Given the description of an element on the screen output the (x, y) to click on. 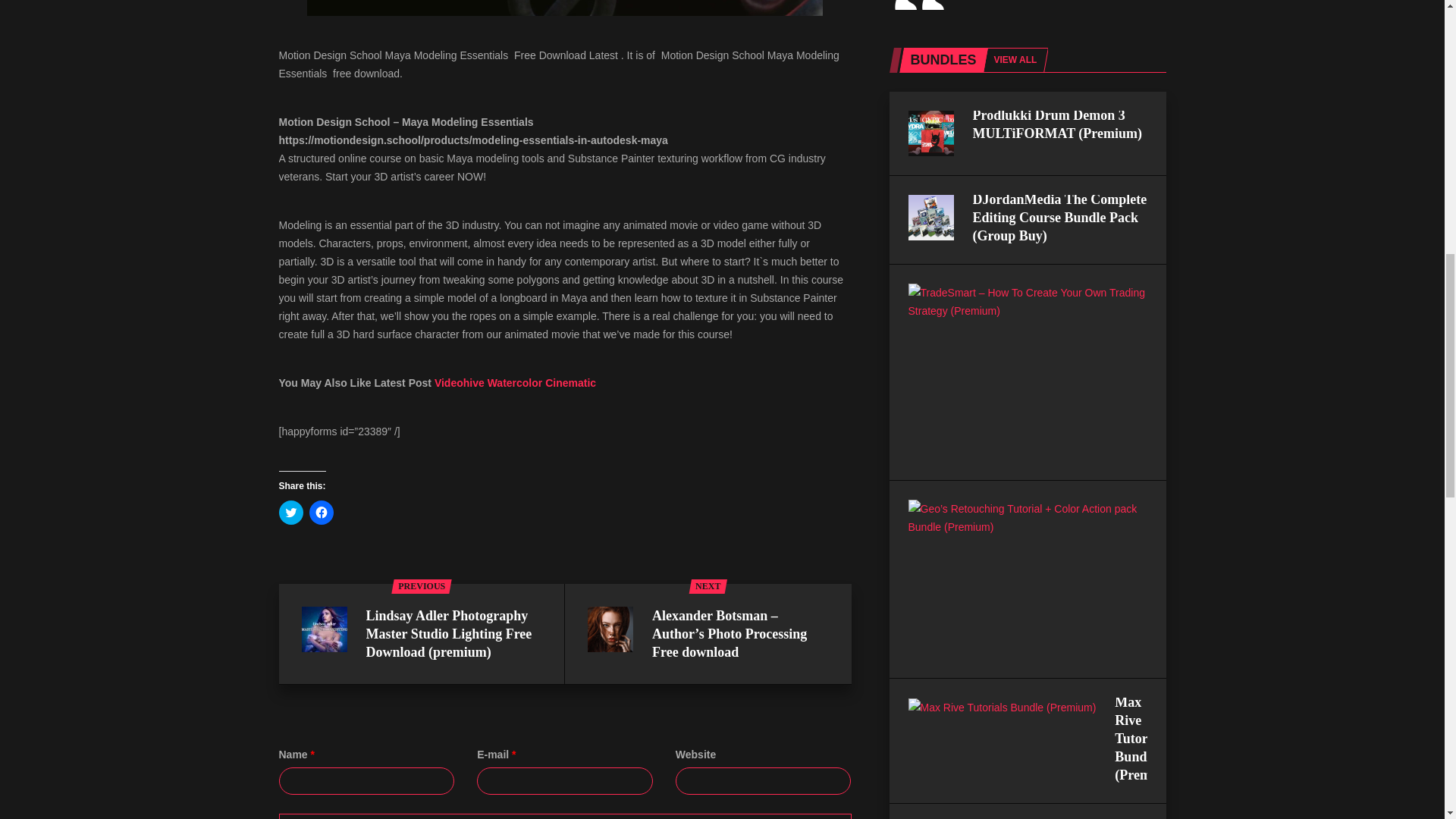
Videohive Watercolor Cinematic  (515, 382)
Click to share on Facebook (320, 512)
Search (727, 396)
Click to share on Twitter (290, 512)
